Given the description of an element on the screen output the (x, y) to click on. 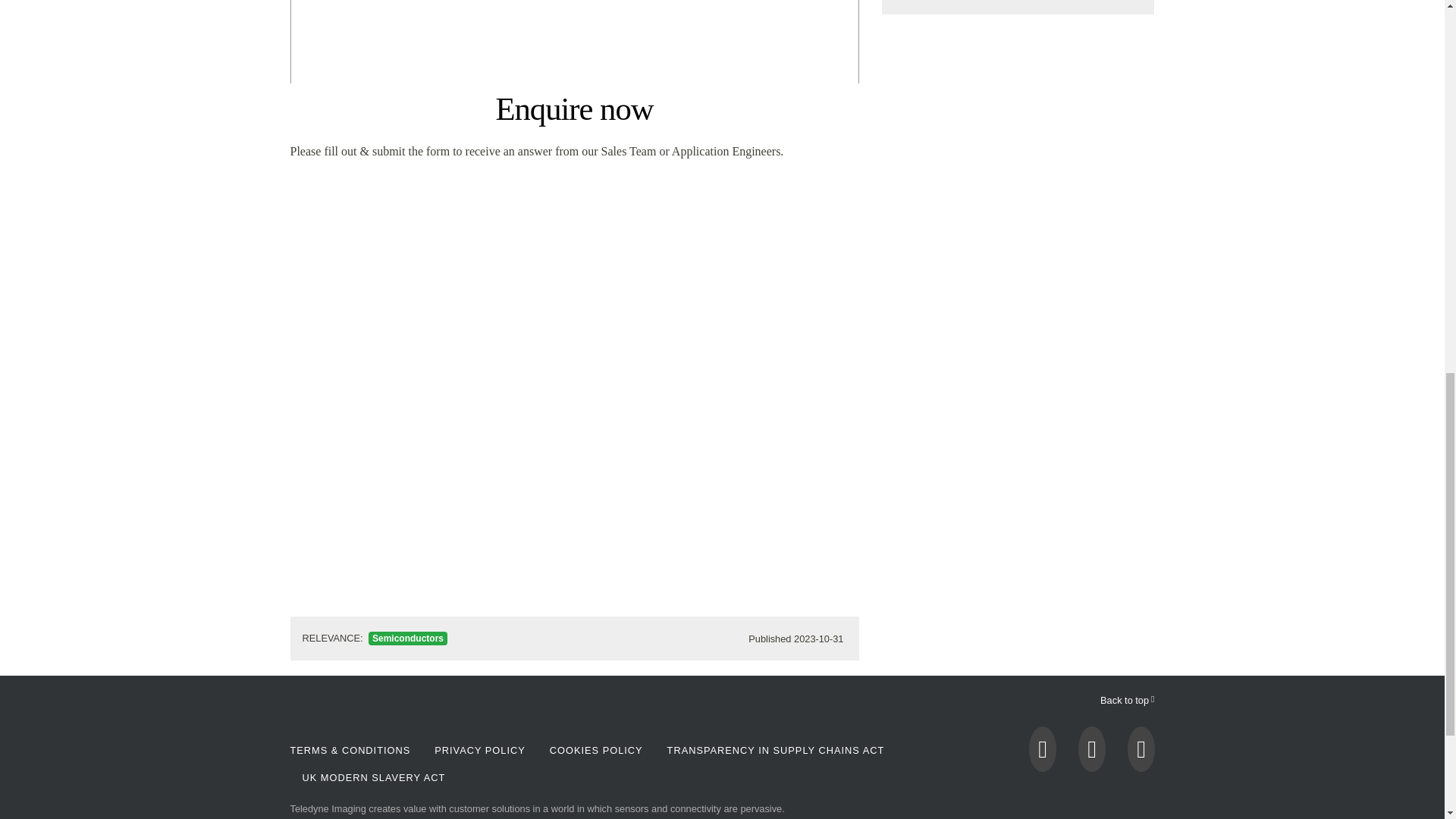
Follow us on Twitter (1043, 753)
Subscribe to our Youtube channel (1091, 753)
Connect with us on LinkedIn (1140, 753)
